Given the description of an element on the screen output the (x, y) to click on. 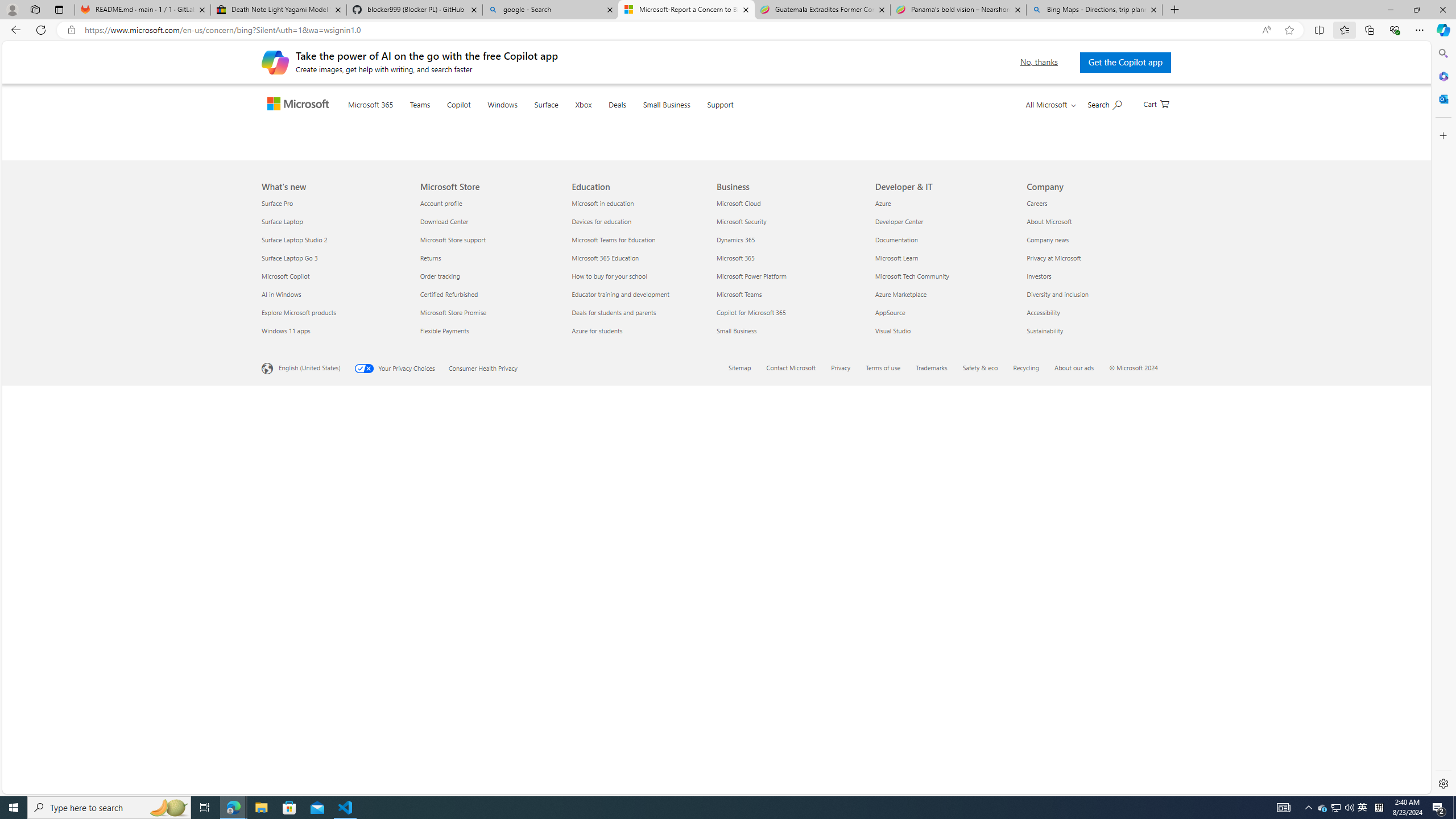
Educator training and development Education (620, 693)
Get the Copilot app  (1123, 61)
Your Privacy Choices Opt-Out Icon Your Privacy Choices (400, 767)
Microsoft Tech Community Developer & IT (912, 675)
Privacy at Microsoft (1095, 657)
Microsoft Cloud (788, 603)
Microsoft Store Promise Microsoft Store (452, 712)
Microsoft Copilot (334, 676)
Azure (944, 603)
About Microsoft Company (1048, 620)
Accessibility Company (1042, 712)
Microsoft in education Education (603, 602)
